Given the description of an element on the screen output the (x, y) to click on. 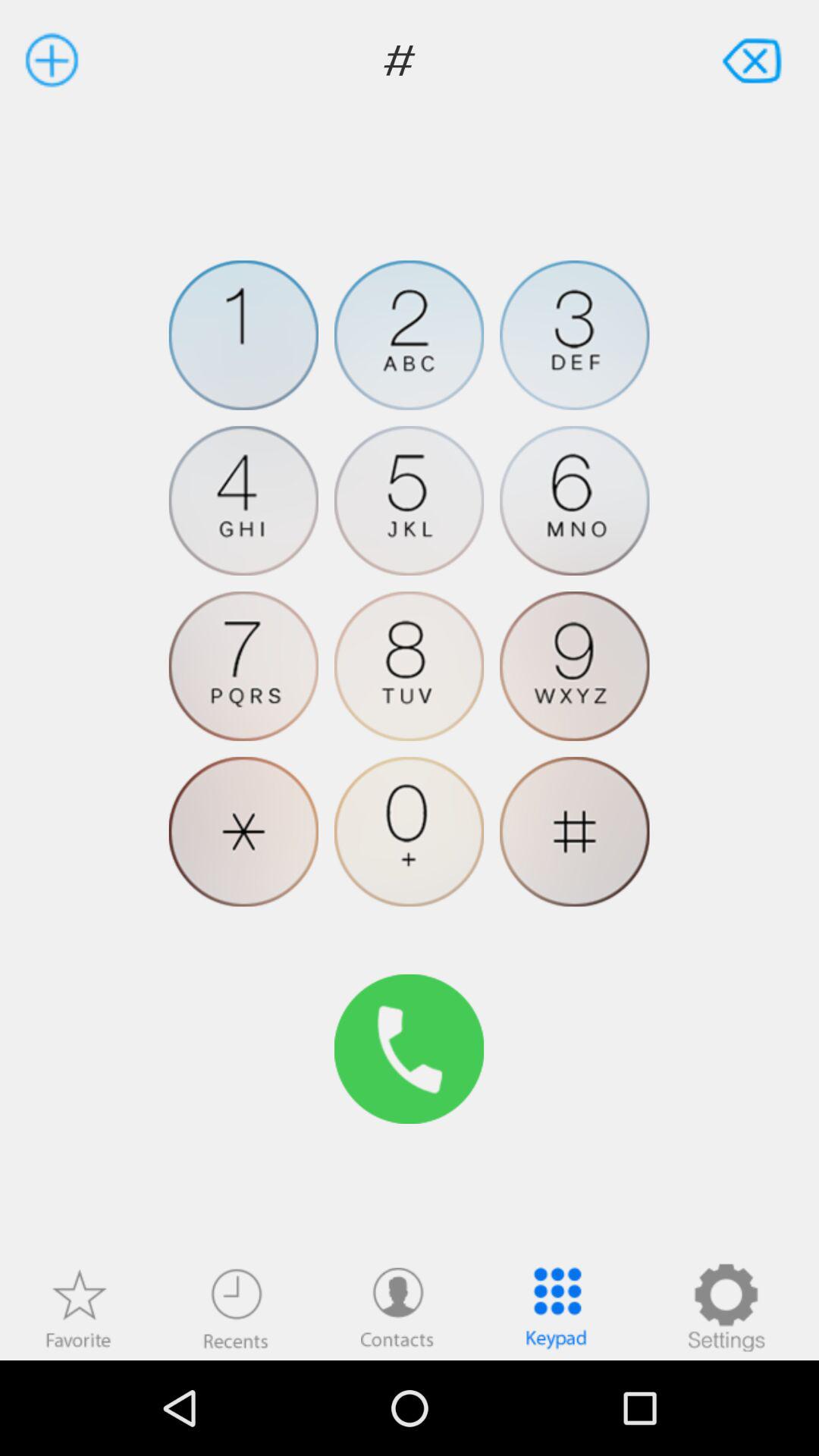
dial the number nine (574, 666)
